Given the description of an element on the screen output the (x, y) to click on. 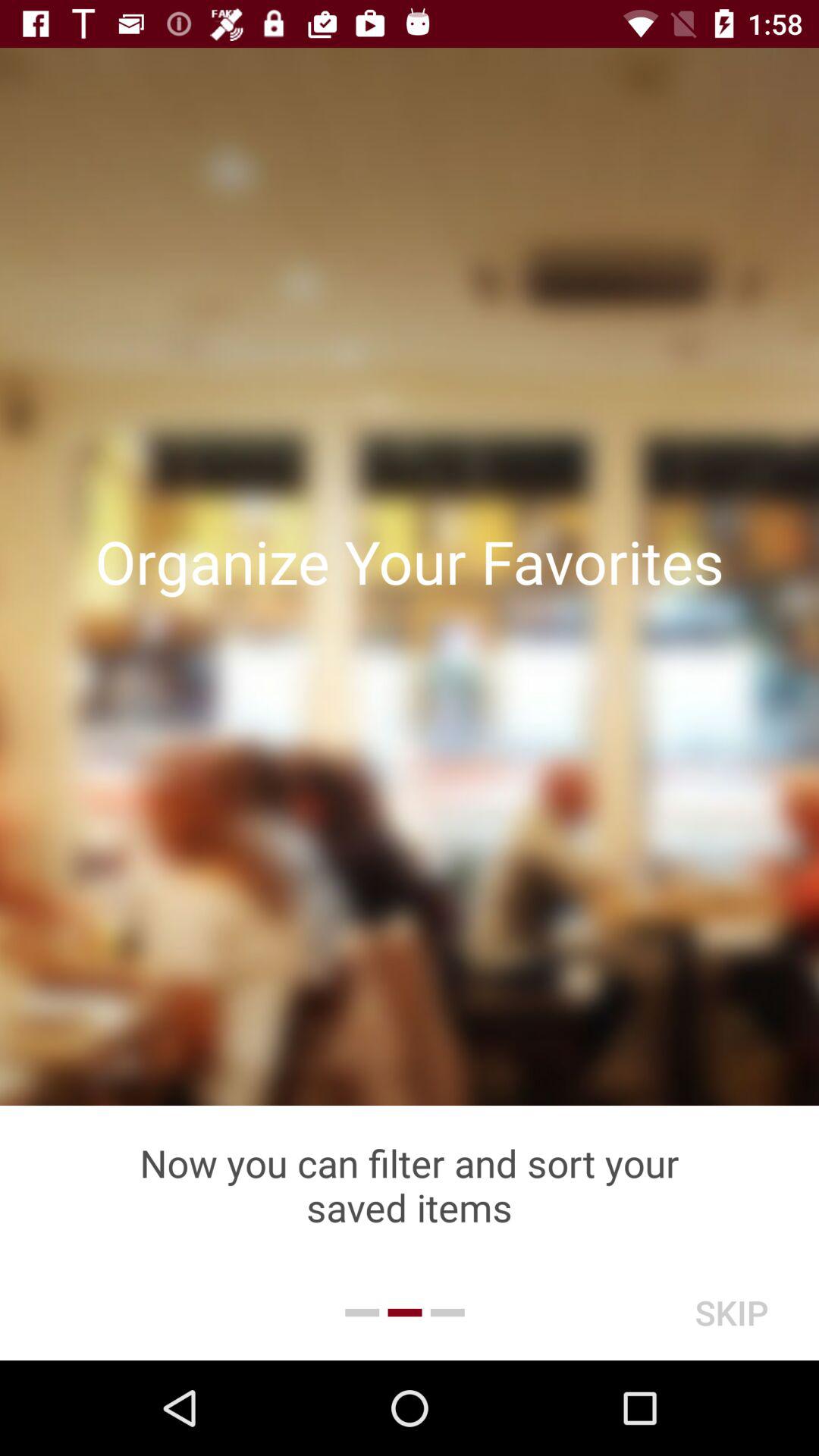
turn on the icon below organize your favorites item (409, 1184)
